Given the description of an element on the screen output the (x, y) to click on. 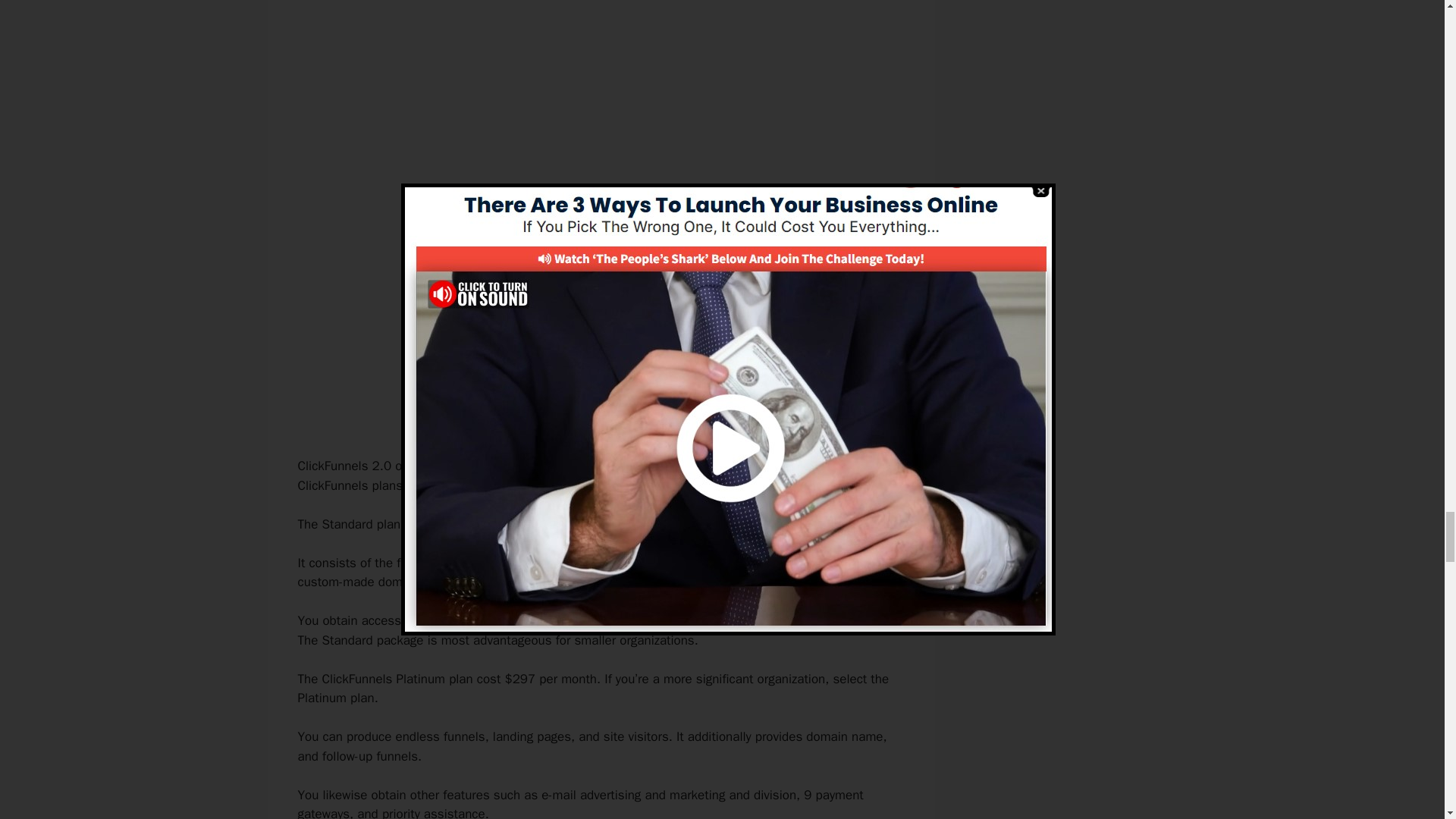
free trial (617, 485)
